Given the description of an element on the screen output the (x, y) to click on. 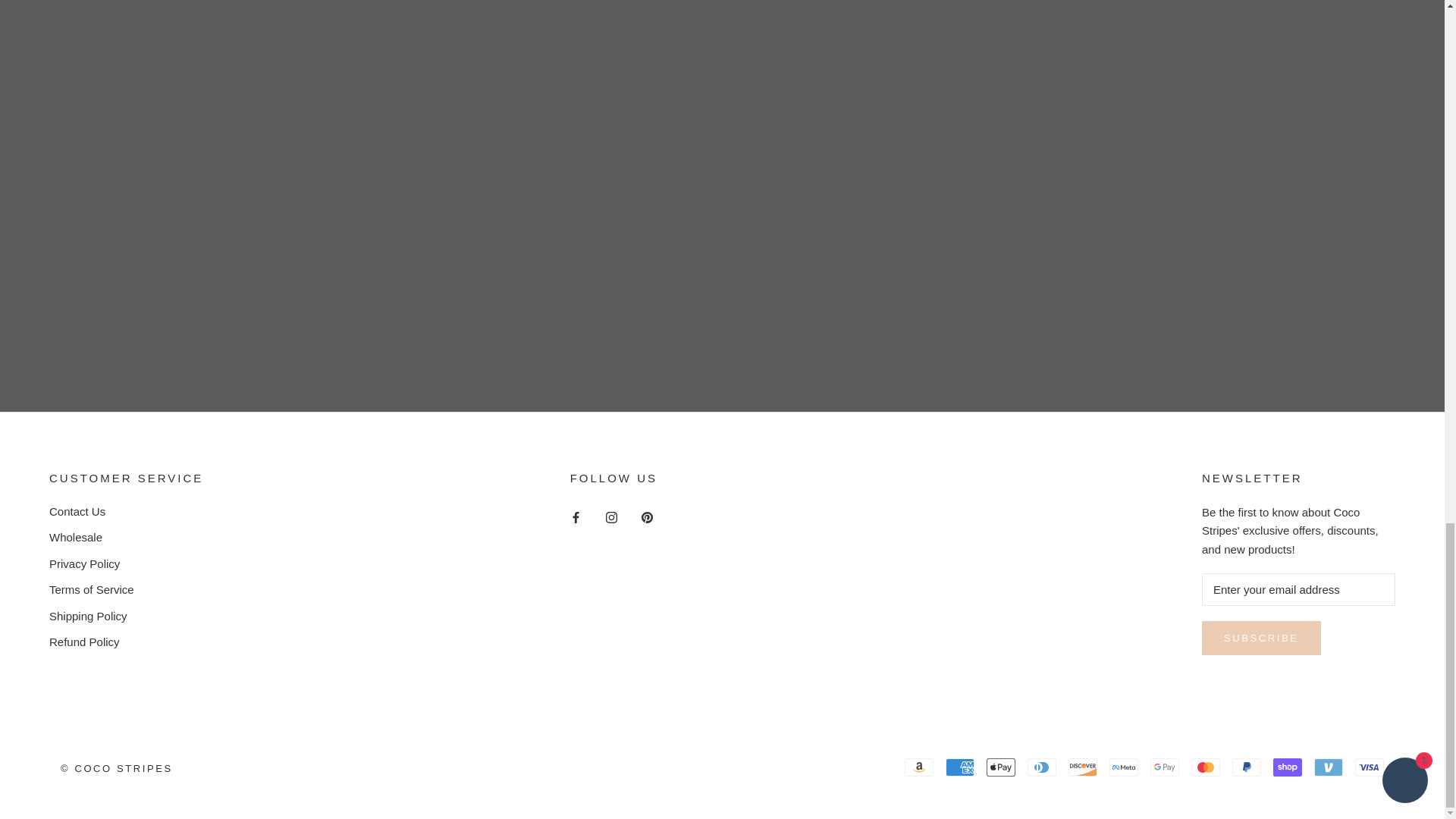
American Express (959, 767)
Apple Pay (1000, 767)
Shop Pay (1286, 767)
Diners Club (1042, 767)
Meta Pay (1123, 767)
Discover (1082, 767)
Google Pay (1164, 767)
PayPal (1245, 767)
Amazon (918, 767)
Mastercard (1205, 767)
